Given the description of an element on the screen output the (x, y) to click on. 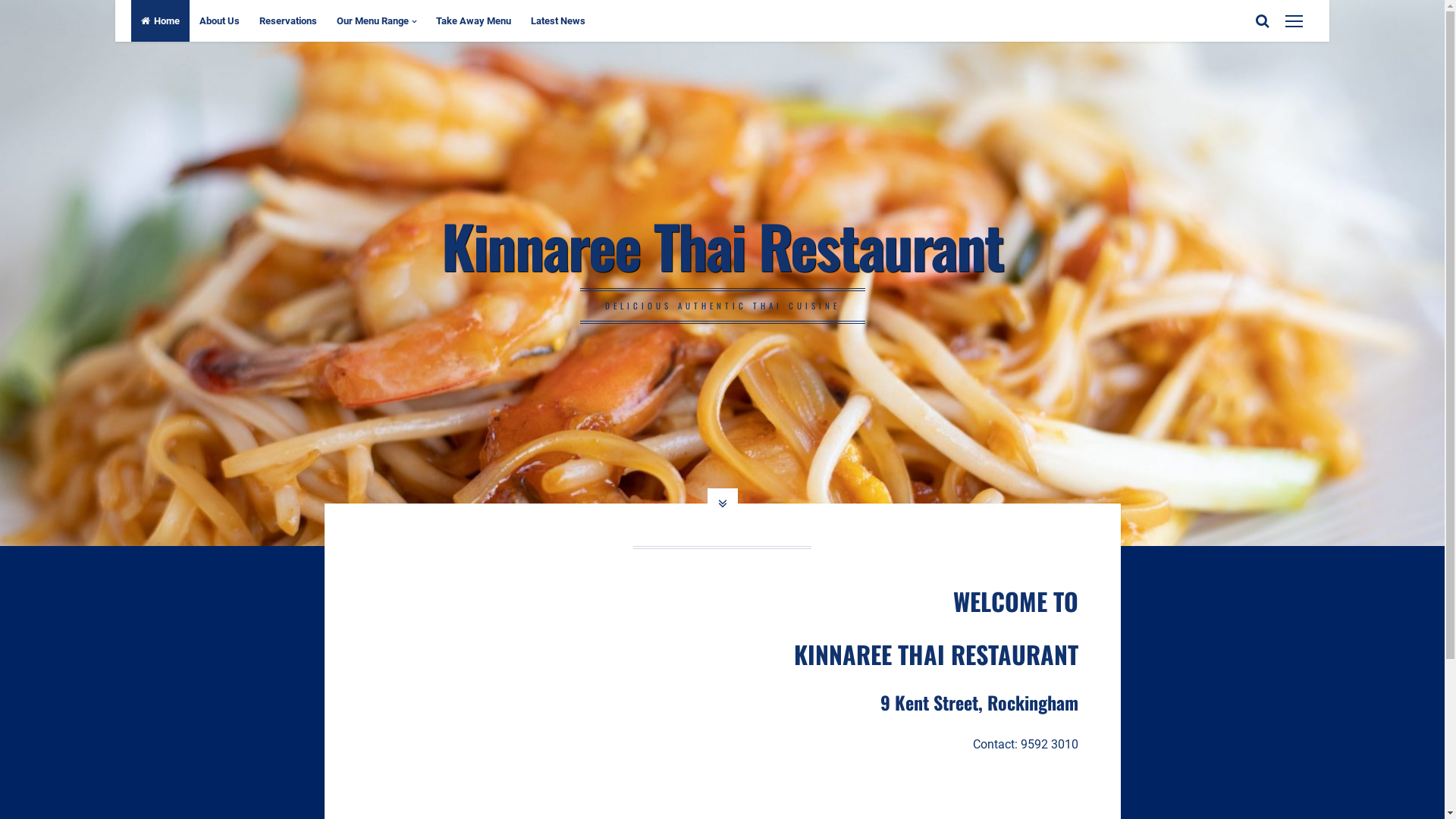
Home Element type: text (160, 20)
Reservations Element type: text (287, 20)
Our Menu Range Element type: text (376, 20)
Take Away Menu Element type: text (473, 20)
Latest News Element type: text (557, 20)
Kinnaree Thai Restaurant Element type: text (722, 244)
About Us Element type: text (219, 20)
